Given the description of an element on the screen output the (x, y) to click on. 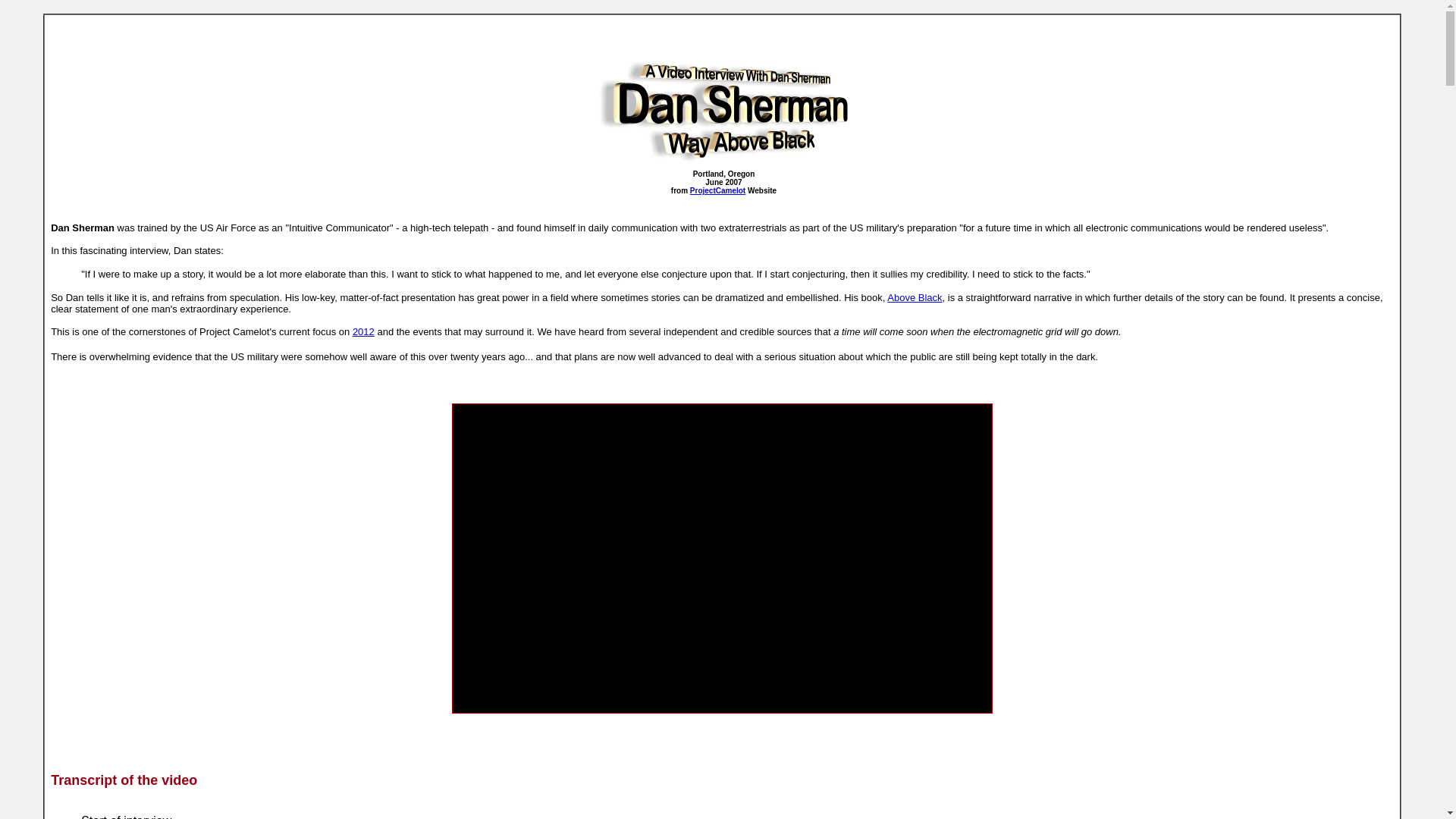
2012 (363, 331)
ProjectCamelot (717, 190)
Transcript of the video (123, 780)
Above Black (914, 297)
